Given the description of an element on the screen output the (x, y) to click on. 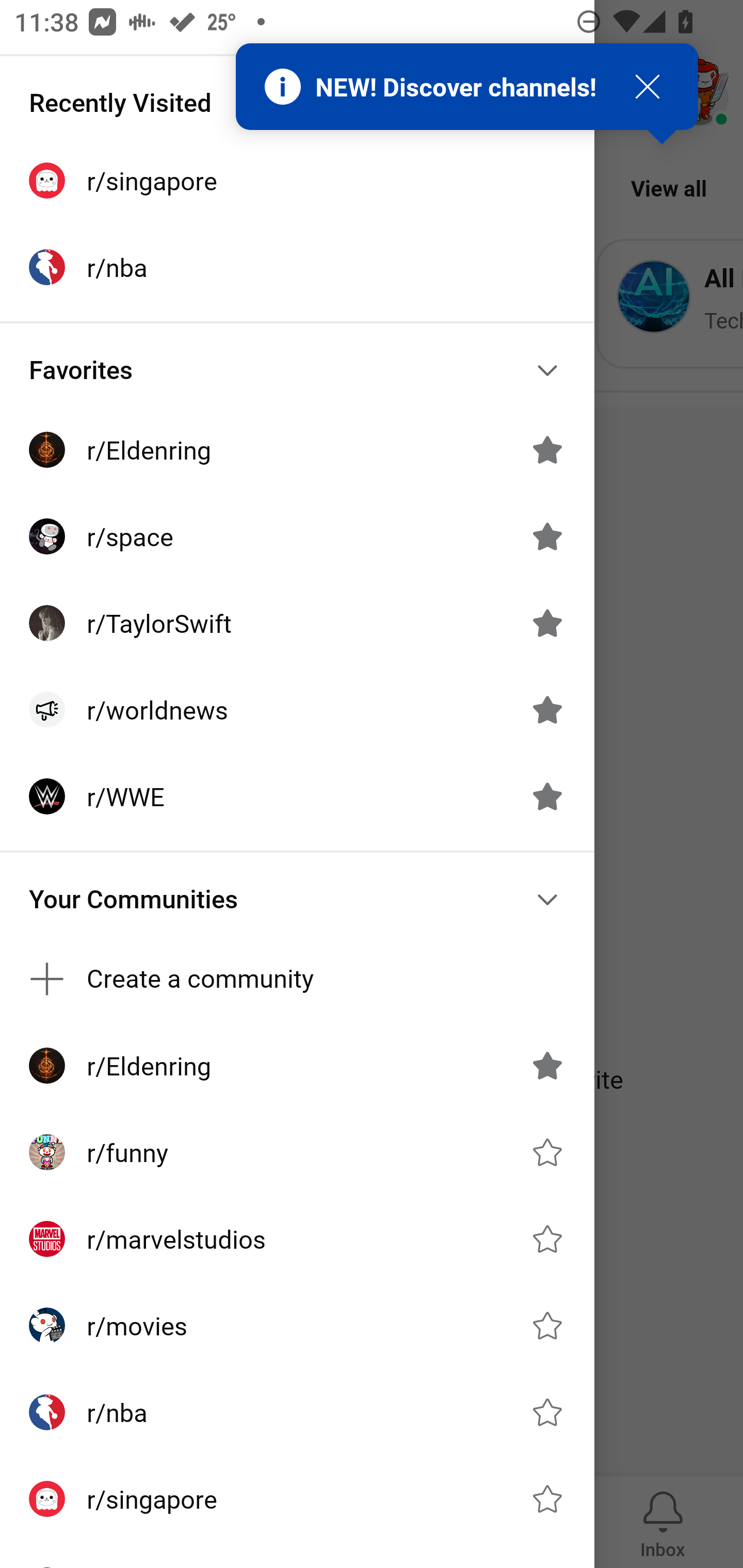
Filter chats (626, 93)
r/singapore (297, 180)
r/nba (297, 267)
Favorites (297, 369)
r/Eldenring Unfavorite r/Eldenring (297, 449)
Unfavorite r/Eldenring (546, 449)
r/space Unfavorite r/space (297, 536)
Unfavorite r/space (546, 536)
r/TaylorSwift Unfavorite r/TaylorSwift (297, 623)
Unfavorite r/TaylorSwift (546, 623)
r/worldnews Unfavorite r/worldnews (297, 709)
Unfavorite r/worldnews (546, 709)
r/WWE Unfavorite r/WWE (297, 796)
Unfavorite r/WWE (546, 796)
Your Communities (297, 899)
Create a community (297, 979)
r/Eldenring Unfavorite r/Eldenring (297, 1065)
Unfavorite r/Eldenring (546, 1065)
r/funny Favorite r/funny (297, 1151)
Favorite r/funny (546, 1152)
r/marvelstudios Favorite r/marvelstudios (297, 1238)
Favorite r/marvelstudios (546, 1238)
r/movies Favorite r/movies (297, 1325)
Favorite r/movies (546, 1325)
r/nba Favorite r/nba (297, 1411)
Favorite r/nba (546, 1411)
r/singapore Favorite r/singapore (297, 1498)
Favorite r/singapore (546, 1498)
